Given the description of an element on the screen output the (x, y) to click on. 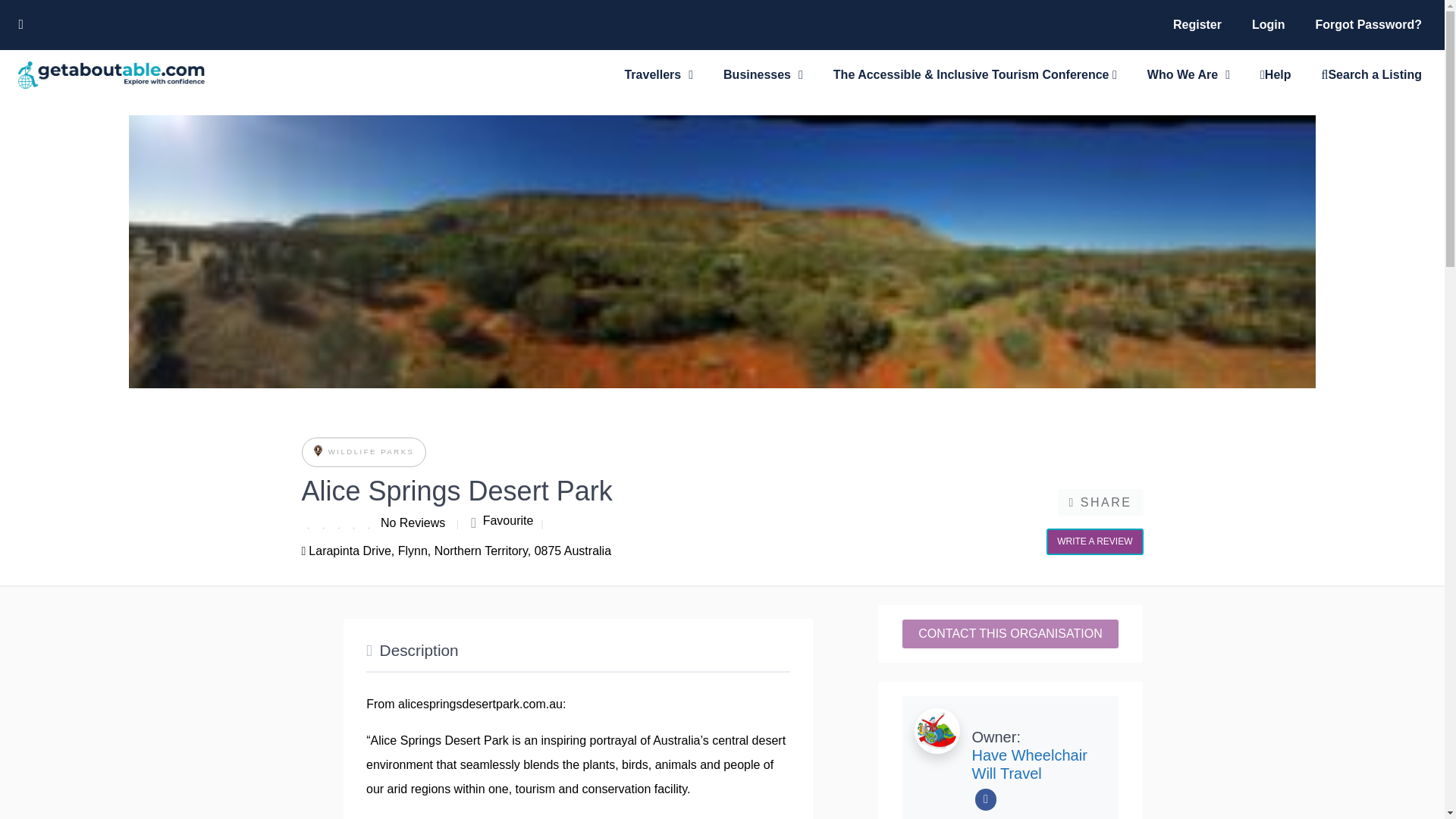
Help (1275, 74)
No rating yet! (339, 522)
main menu (1297, 24)
Register (1196, 24)
Forgot Password? (1368, 24)
Facebook (986, 799)
Wildlife parks (367, 451)
Who We Are (1188, 74)
Search a Listing (1371, 74)
Travellers (657, 74)
Login (1268, 24)
Add to Favourites (501, 520)
Businesses (762, 74)
Wildlife parks (317, 451)
